Given the description of an element on the screen output the (x, y) to click on. 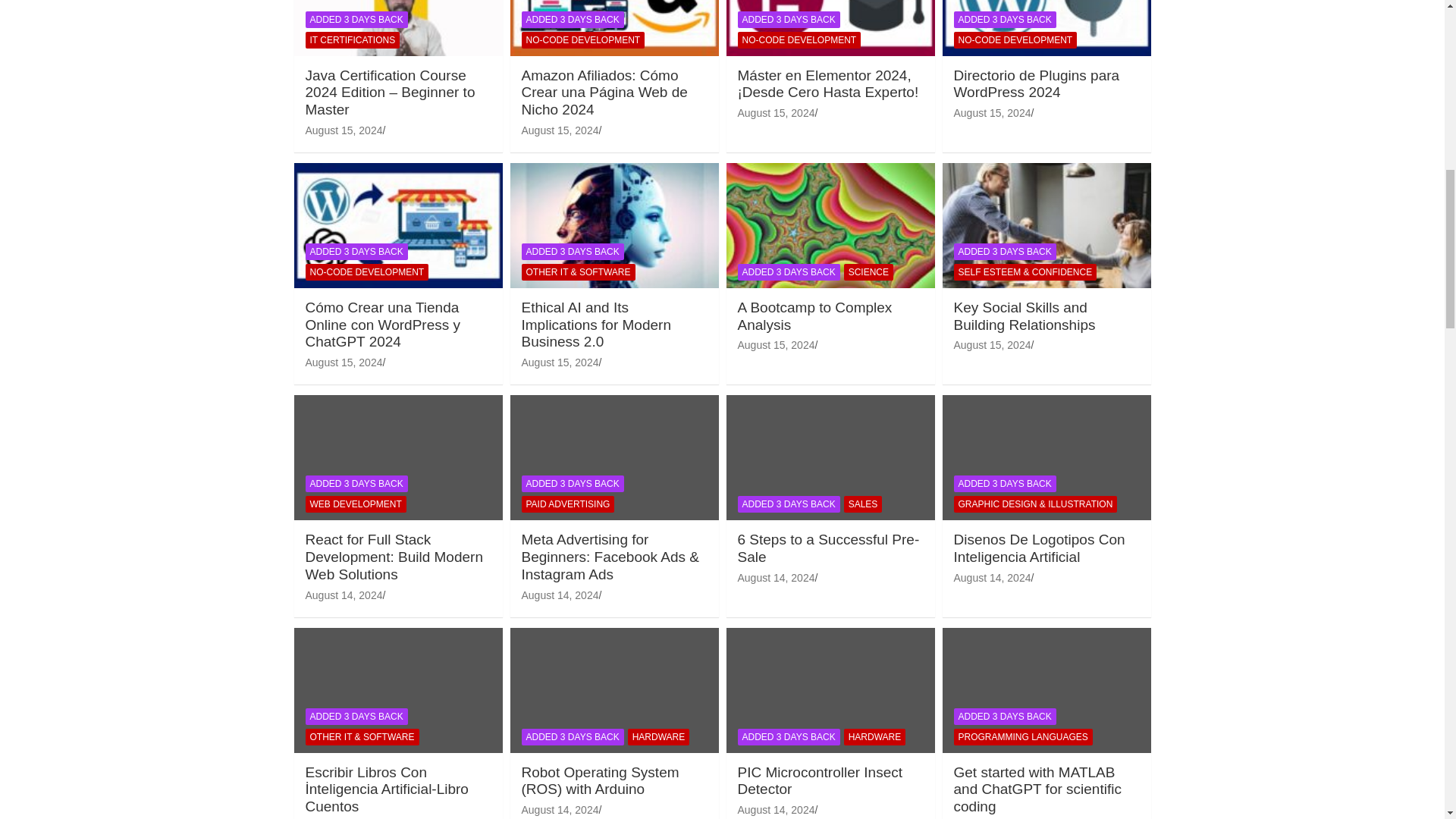
React for Full Stack Development: Build Modern Web Solutions (342, 594)
Disenos De Logotipos Con Inteligencia Artificial (991, 577)
Ethical AI and Its Implications for Modern Business 2.0 (559, 362)
A Bootcamp to Complex Analysis (774, 345)
6 Steps to a Successful Pre-Sale (774, 577)
Key Social Skills and Building Relationships (991, 345)
PIC Microcontroller Insect Detector (774, 809)
Directorio de Plugins para WordPress 2024 (991, 112)
